Given the description of an element on the screen output the (x, y) to click on. 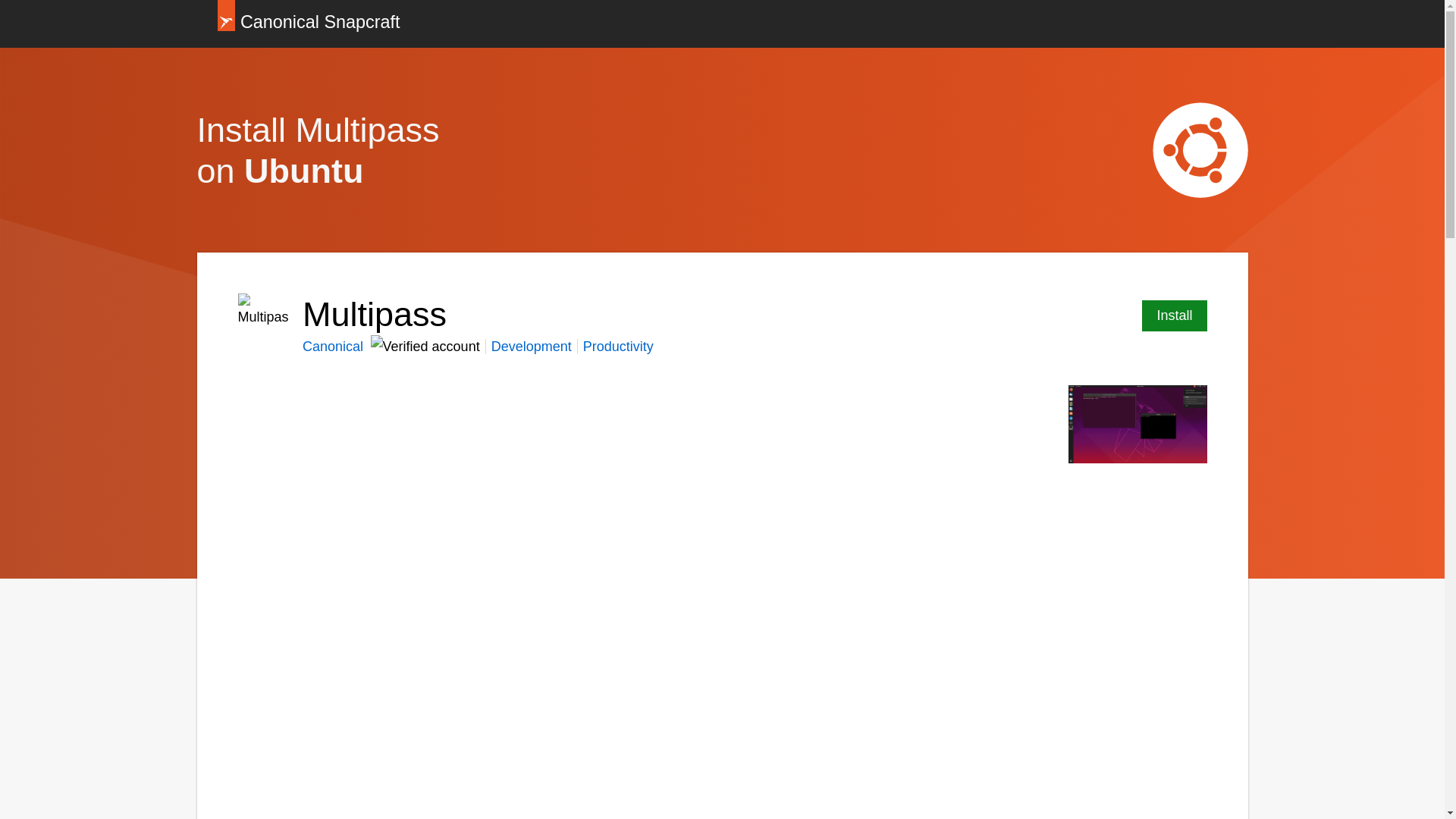
Canonical (334, 346)
Install (1174, 315)
View all snaps from Canonical (334, 346)
Development (532, 346)
Canonical Snapcraft (307, 23)
Productivity (618, 346)
